Given the description of an element on the screen output the (x, y) to click on. 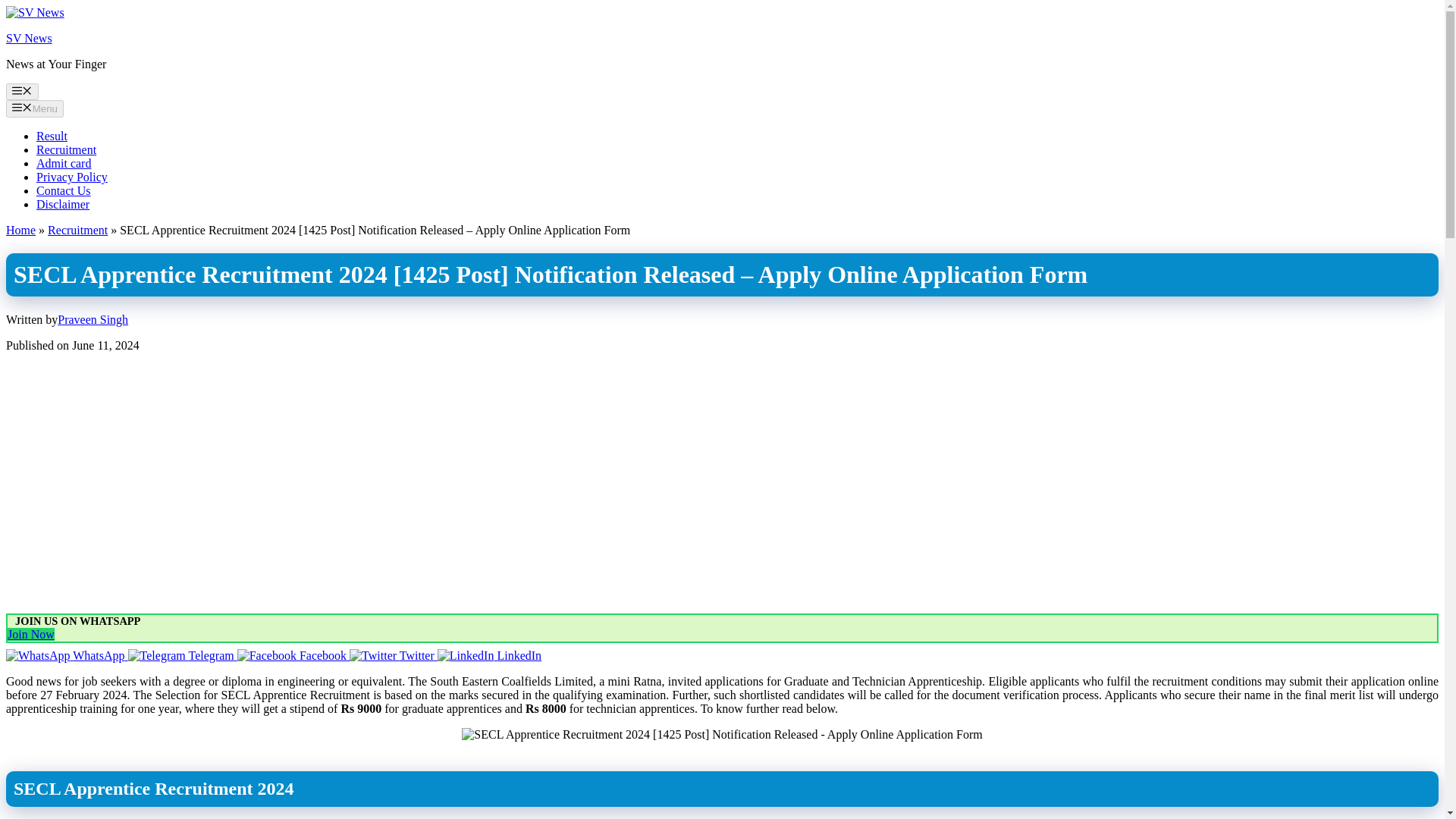
Praveen Singh (93, 318)
Privacy Policy (71, 176)
Telegram (182, 655)
Recruitment (77, 229)
Result (51, 135)
SV News (28, 38)
Home (19, 229)
Disclaimer (62, 204)
WhatsApp (66, 655)
